Given the description of an element on the screen output the (x, y) to click on. 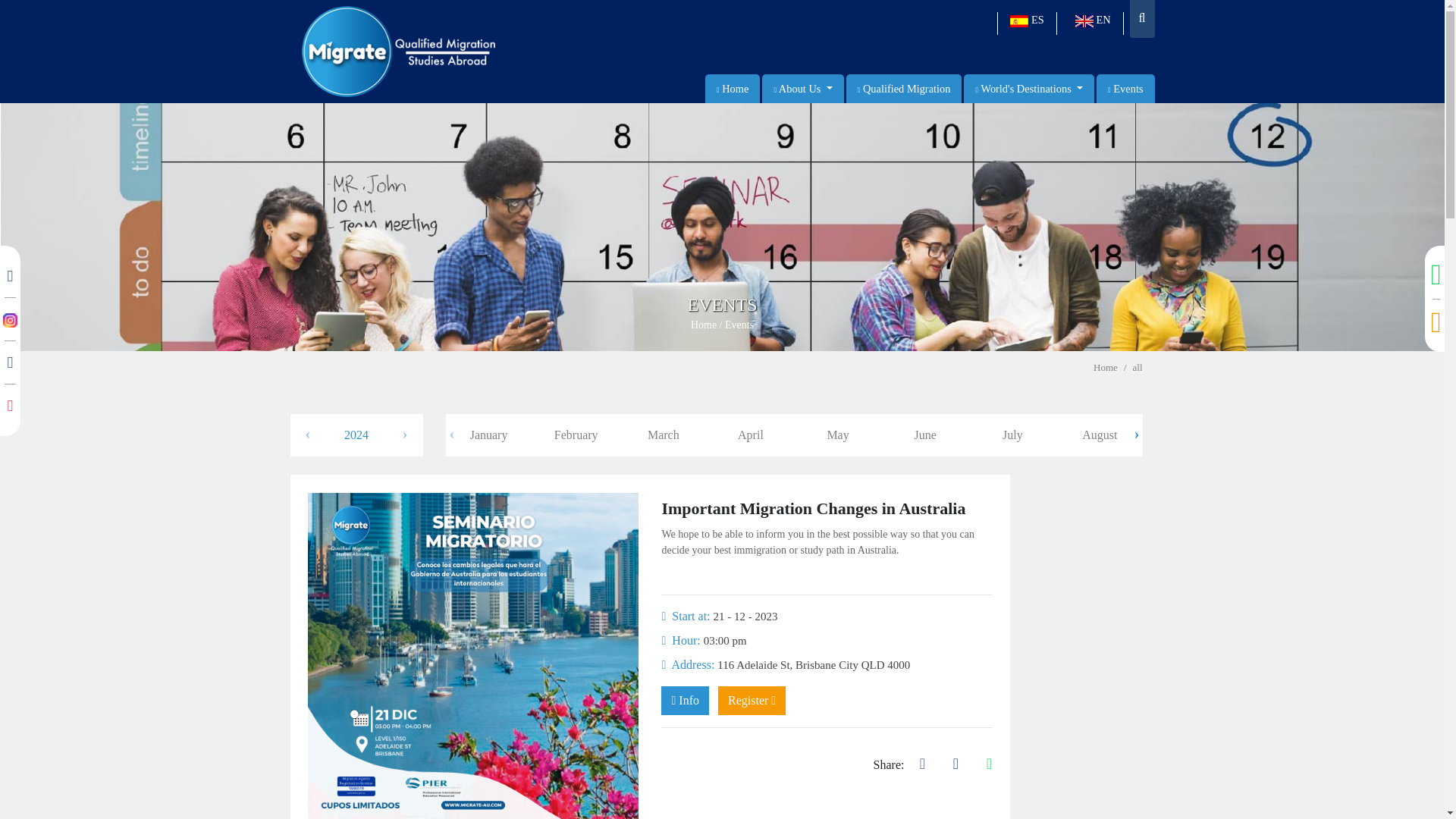
ES (1027, 23)
Register (751, 700)
Events (1125, 88)
Qualified Migration (903, 88)
EN (1096, 23)
Home (1105, 366)
About Us (802, 88)
World's Destinations (1029, 88)
Info (685, 700)
Home (732, 88)
